Given the description of an element on the screen output the (x, y) to click on. 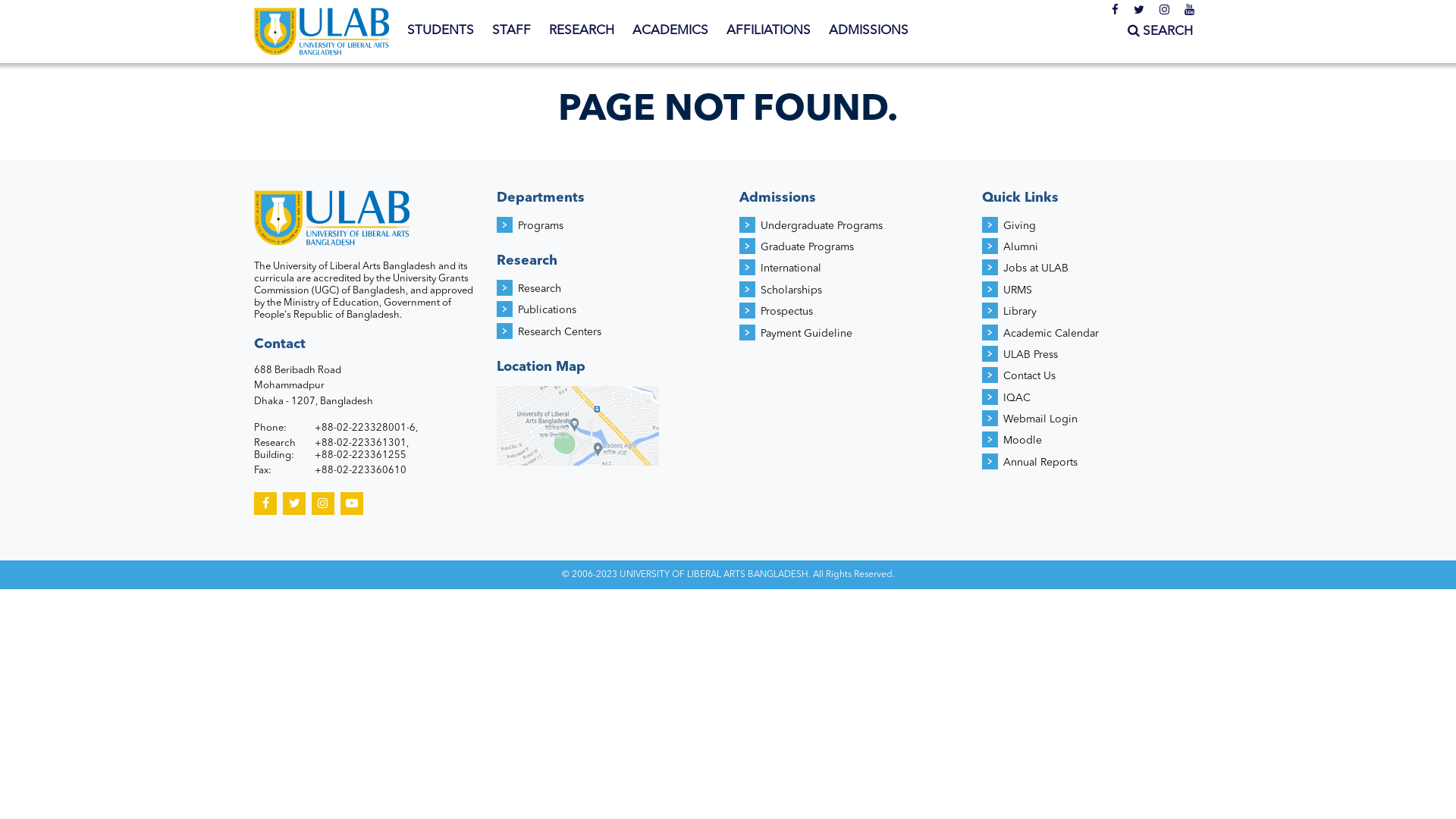
RESEARCH Element type: text (581, 30)
Jobs at ULAB Element type: text (1035, 268)
AFFILIATIONS Element type: text (768, 30)
Giving Element type: text (1019, 225)
Alumni Element type: text (1020, 246)
SEARCH Element type: text (1159, 31)
Annual Reports Element type: text (1040, 462)
Research Element type: text (539, 288)
Undergraduate Programs Element type: text (821, 225)
Academic Calendar Element type: text (1050, 333)
Contact Us Element type: text (1029, 375)
ADMISSIONS Element type: text (868, 30)
Webmail Login Element type: text (1040, 419)
IQAC Element type: text (1016, 397)
Programs Element type: text (540, 225)
Payment Guideline Element type: text (806, 333)
ACADEMICS Element type: text (670, 30)
Research Centers Element type: text (559, 331)
Prospectus Element type: text (786, 311)
URMS Element type: text (1017, 290)
STAFF Element type: text (511, 30)
ULAB Press Element type: text (1030, 354)
Publications Element type: text (546, 309)
Library Element type: text (1019, 311)
STUDENTS Element type: text (440, 30)
Scholarships Element type: text (791, 290)
Moodle Element type: text (1022, 440)
Graduate Programs Element type: text (806, 246)
International Element type: text (790, 268)
Skip to main content Element type: text (61, 0)
